Given the description of an element on the screen output the (x, y) to click on. 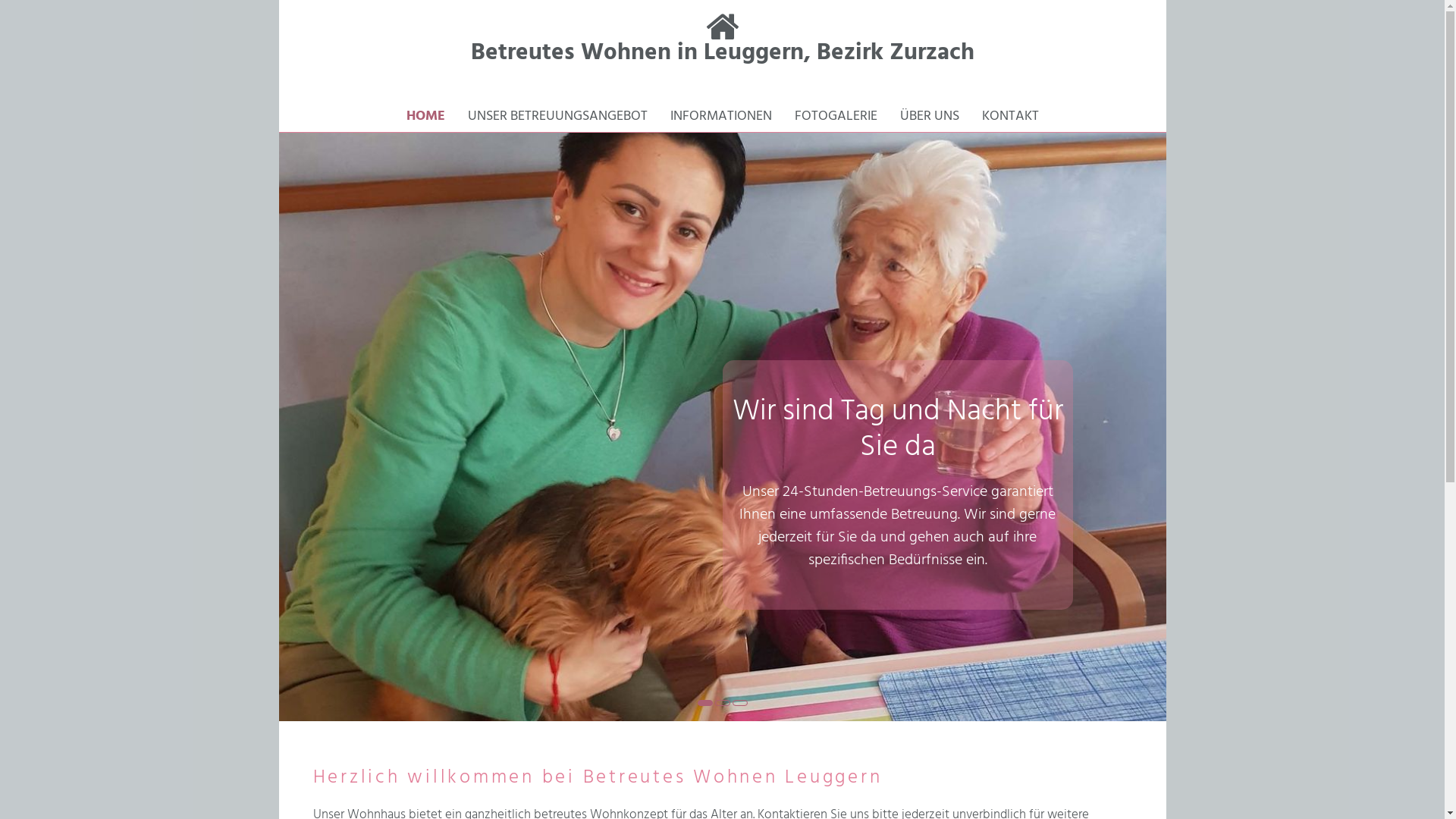
FOTOGALERIE Element type: text (835, 116)
INFORMATIONEN Element type: text (720, 116)
UNSER BETREUUNGSANGEBOT Element type: text (556, 116)
KONTAKT Element type: text (1009, 116)
HOME Element type: text (425, 116)
